Given the description of an element on the screen output the (x, y) to click on. 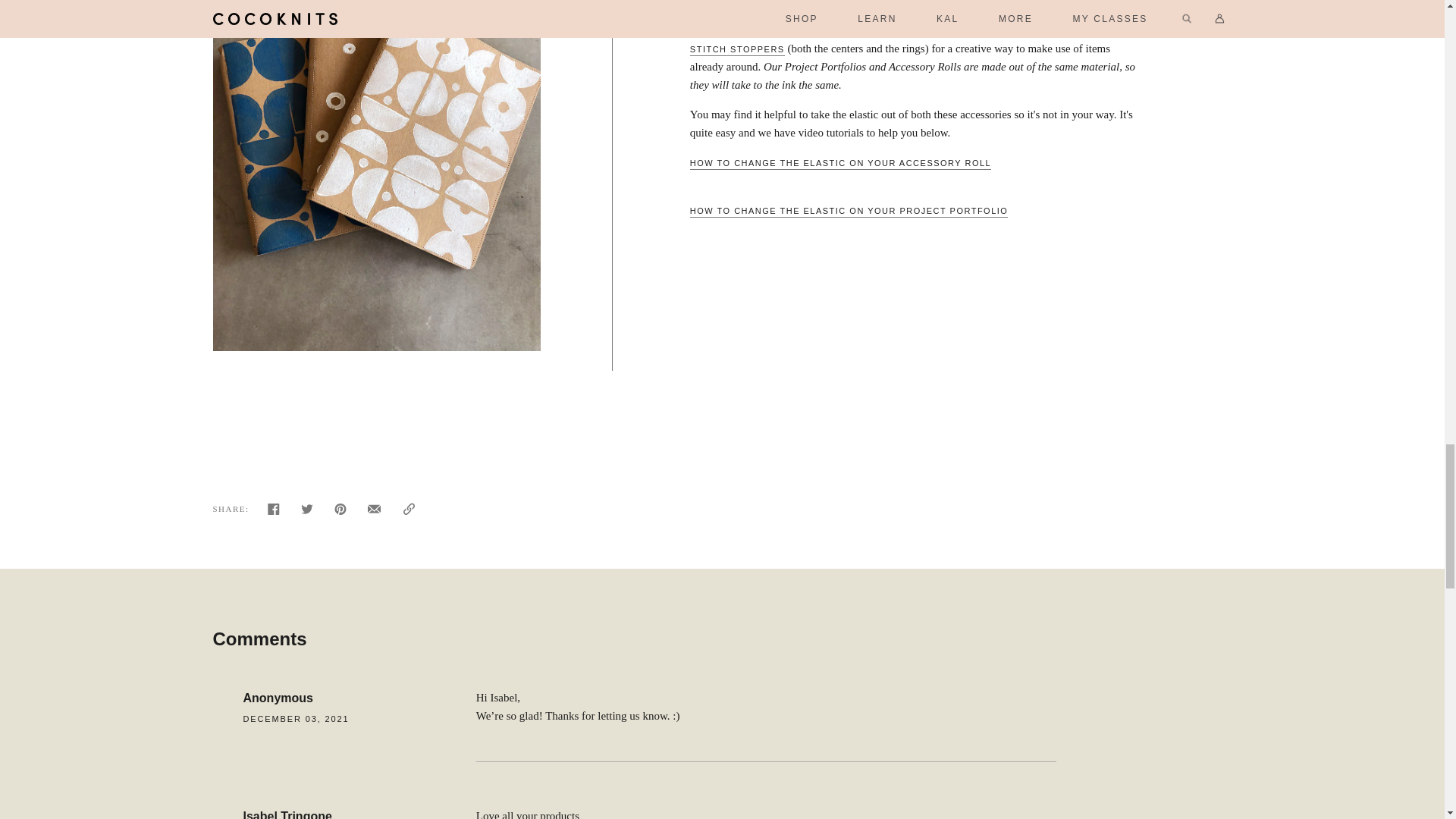
Stitch Stoppers (737, 50)
How to Change the Elastic on Your Accessory Roll (840, 163)
Speedball Art Ink (947, 0)
Project Portfolio (881, 9)
Share on Facebook (273, 513)
Tweet on Twitter (306, 513)
